Given the description of an element on the screen output the (x, y) to click on. 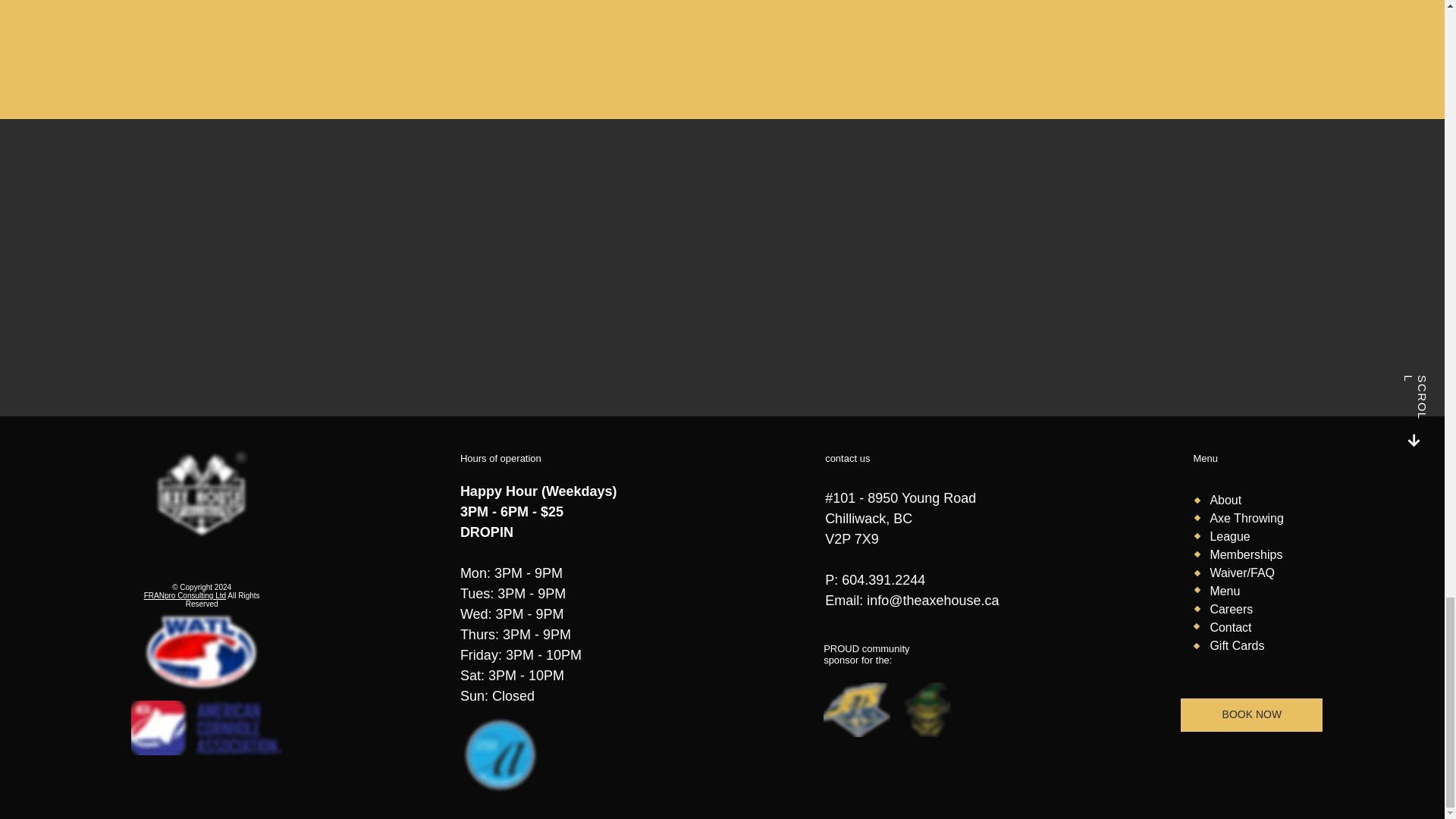
Axe Throwing (1246, 517)
8.png (201, 495)
Memberships (1245, 554)
Contact (1229, 626)
Gift Cards (1236, 645)
Menu (1224, 590)
FRANpro Consulting Ltd (184, 595)
Careers (1230, 608)
About (1225, 499)
League (1229, 535)
